Given the description of an element on the screen output the (x, y) to click on. 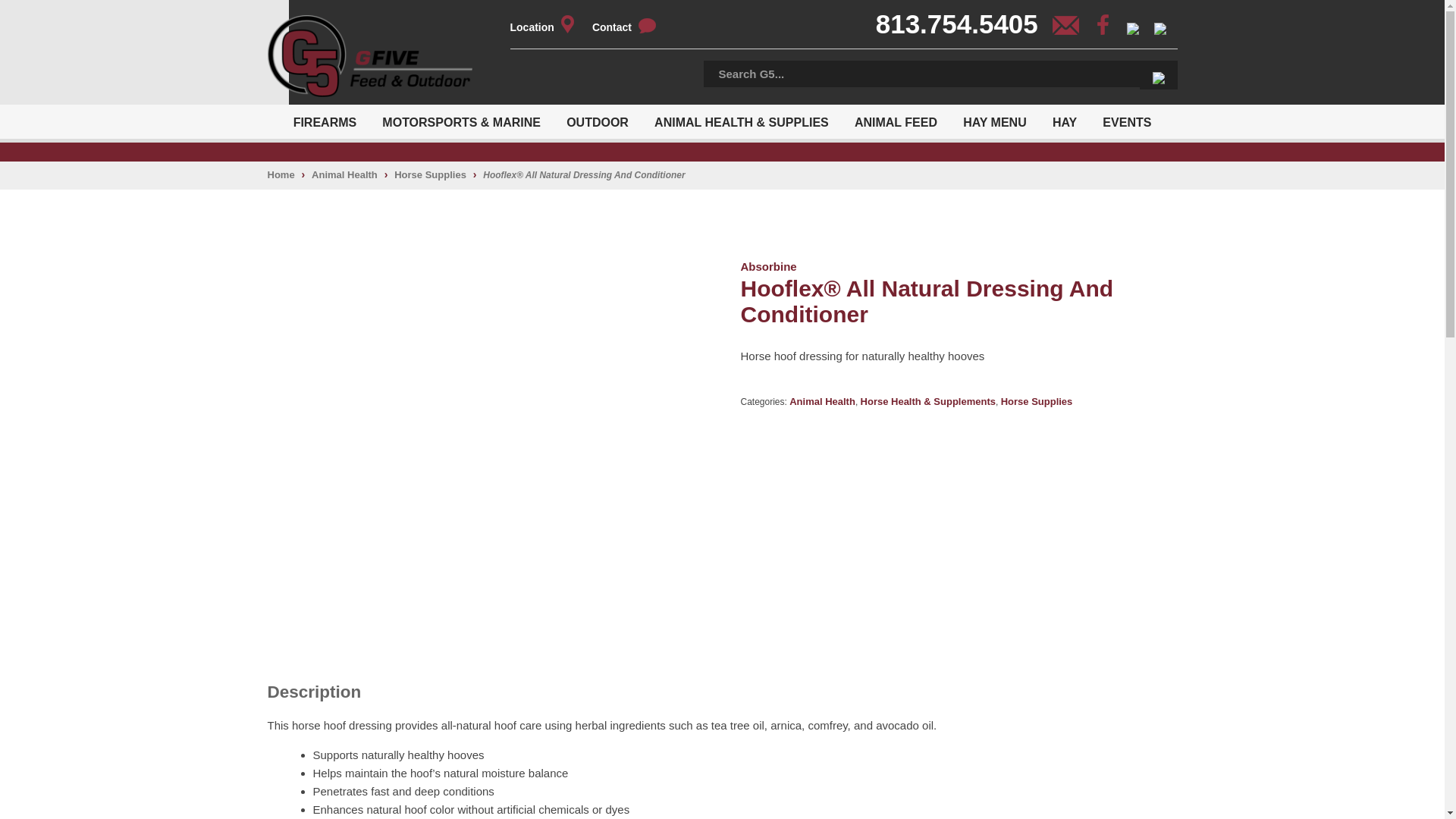
OUTDOOR (597, 121)
HAY MENU (995, 121)
Contact (631, 26)
Location (548, 26)
EVENTS (1125, 121)
FIREARMS (325, 121)
HAY (1064, 121)
ANIMAL FEED (896, 121)
813.754.5405 (962, 29)
